Given the description of an element on the screen output the (x, y) to click on. 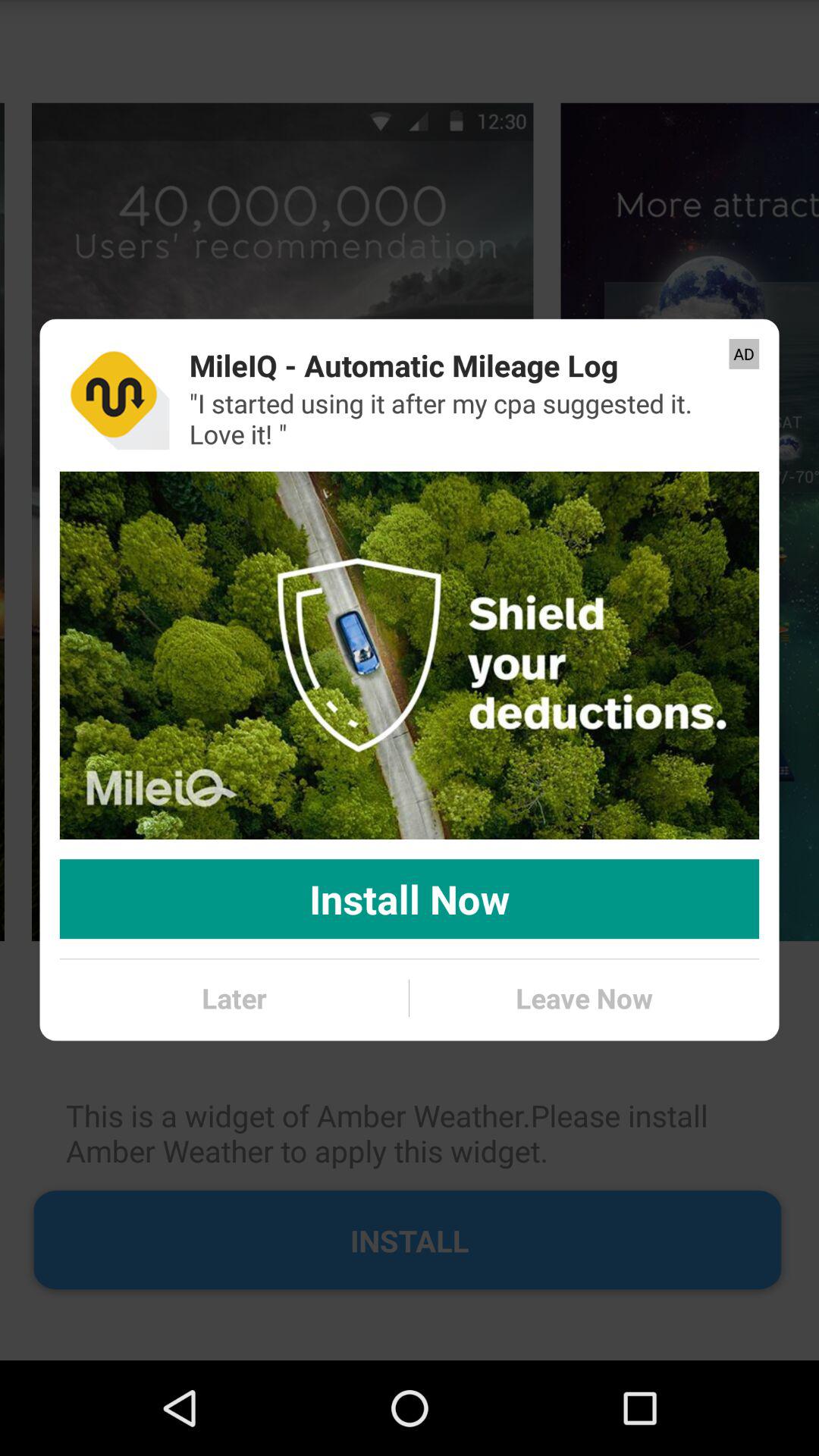
turn off the app below mileiq automatic mileage (464, 418)
